Given the description of an element on the screen output the (x, y) to click on. 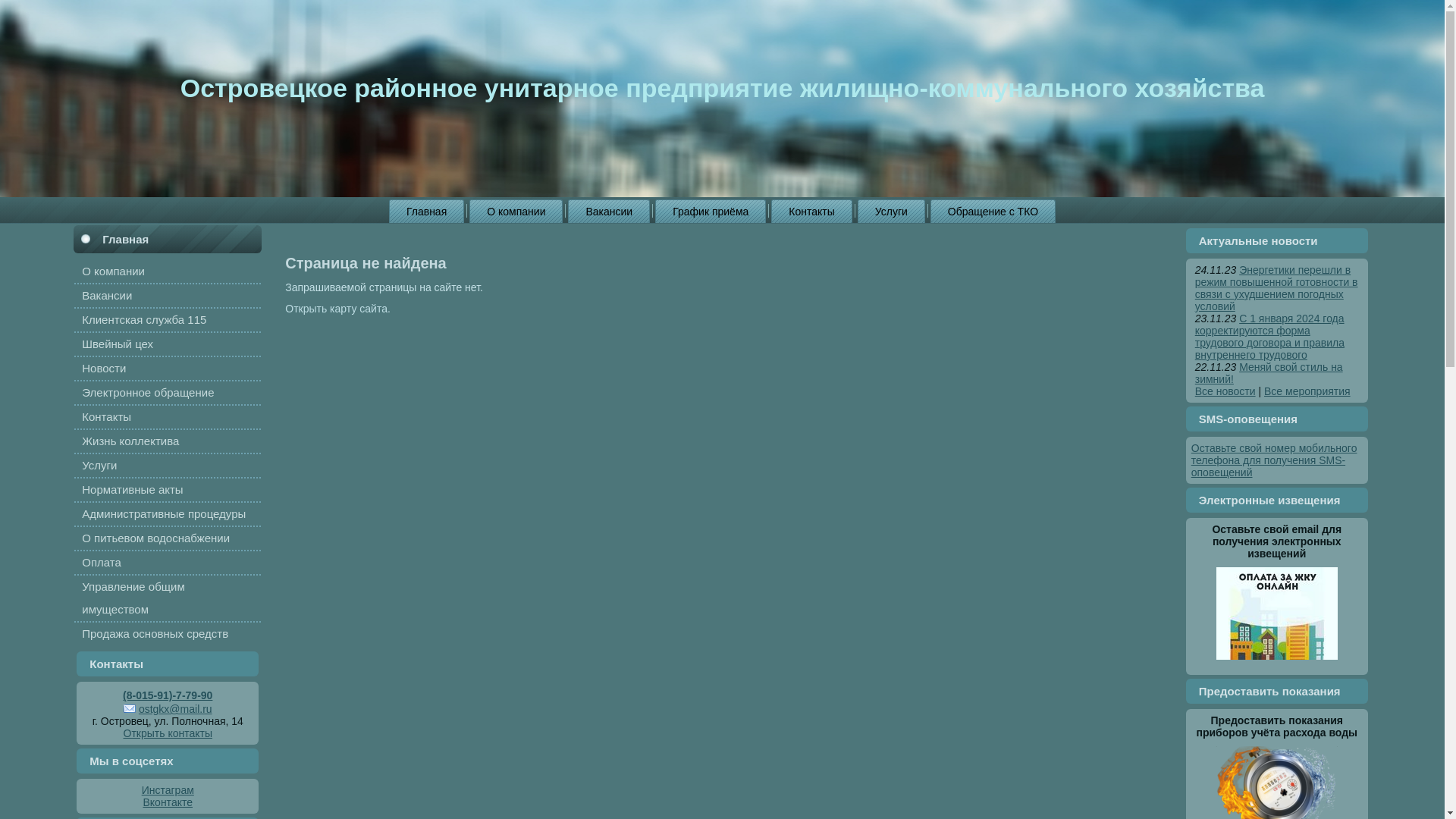
ostgkx@mail.ru Element type: text (167, 708)
(8-015-91)-7-79-90 Element type: text (167, 695)
